Given the description of an element on the screen output the (x, y) to click on. 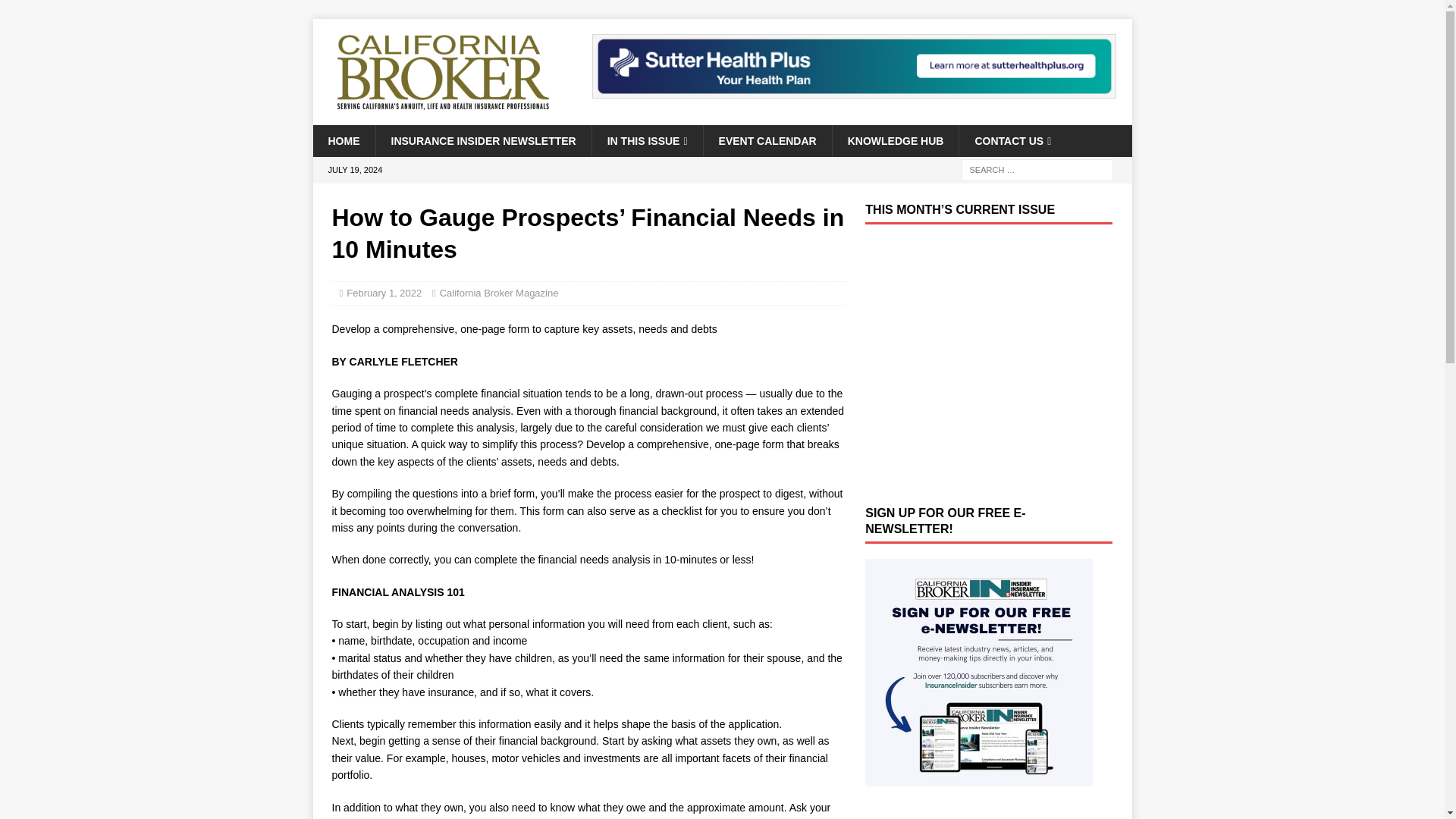
Search (56, 11)
February 1, 2022 (384, 292)
California Broker Magazine (499, 292)
HOME (343, 141)
EVENT CALENDAR (767, 141)
INSURANCE INSIDER NEWSLETTER (482, 141)
CONTACT US (1011, 141)
IN THIS ISSUE (647, 141)
KNOWLEDGE HUB (895, 141)
